Given the description of an element on the screen output the (x, y) to click on. 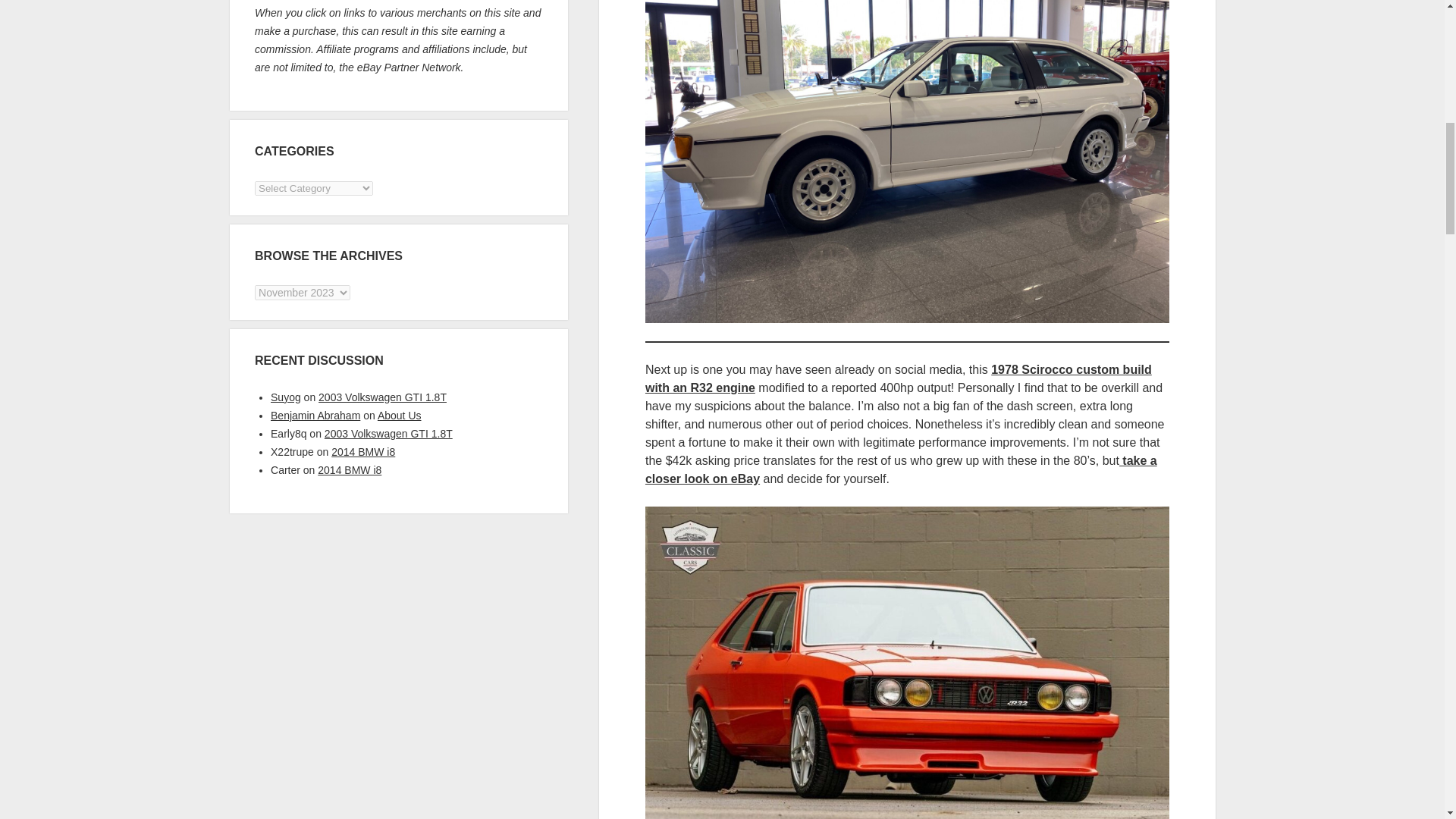
take a closer look on eBay (901, 469)
1978 Scirocco custom build with an R32 engine (898, 378)
